Given the description of an element on the screen output the (x, y) to click on. 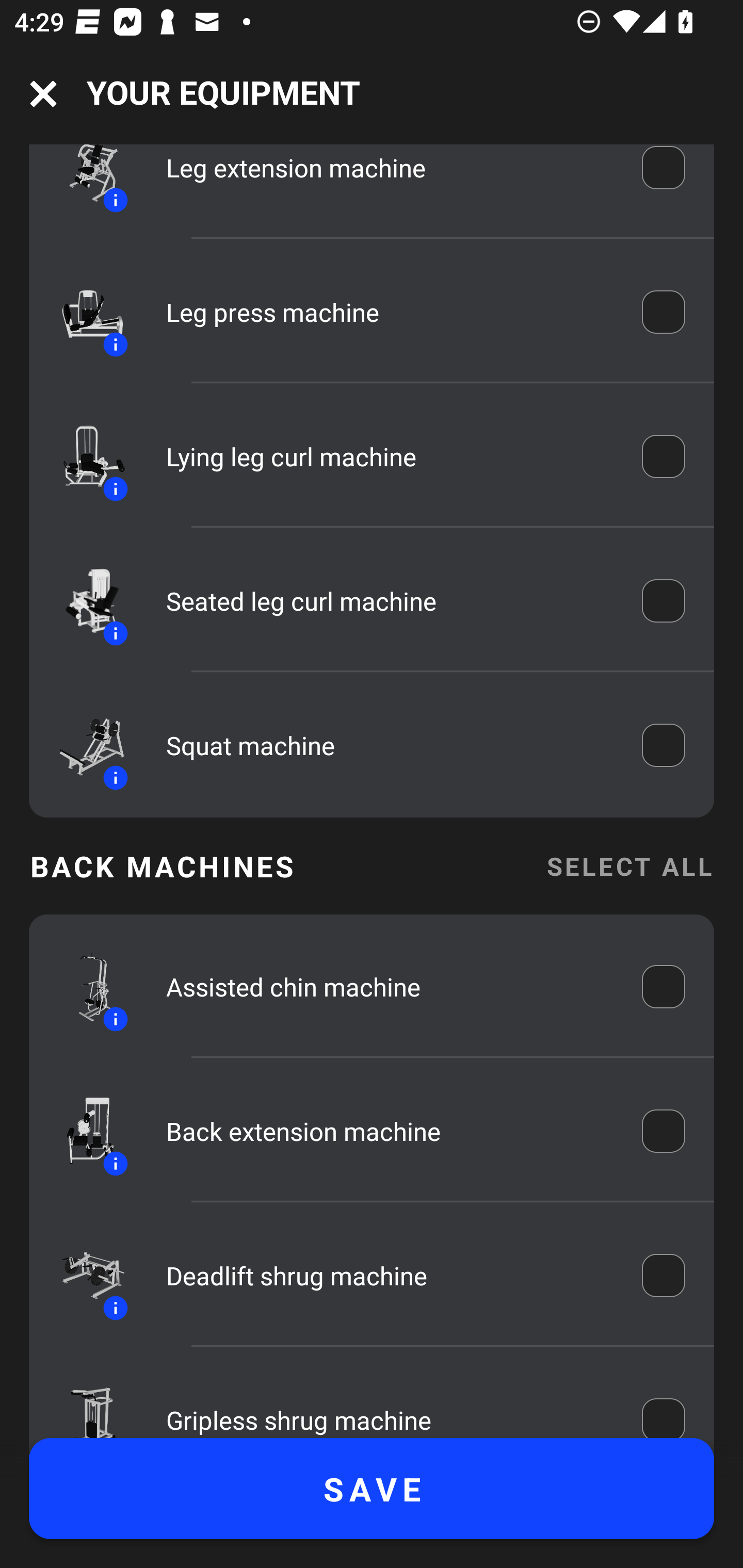
Navigation icon (43, 93)
Equipment icon Information icon (82, 182)
Leg extension machine (389, 177)
Equipment icon Information icon (82, 311)
Leg press machine (389, 311)
Equipment icon Information icon (82, 456)
Lying leg curl machine (389, 456)
Equipment icon Information icon (82, 601)
Seated leg curl machine (389, 601)
Equipment icon Information icon (82, 745)
Squat machine (389, 745)
SELECT ALL (629, 866)
Equipment icon Information icon (82, 986)
Assisted chin machine (389, 986)
Equipment icon Information icon (82, 1131)
Back extension machine (389, 1131)
Equipment icon Information icon (82, 1275)
Deadlift shrug machine (389, 1275)
Equipment icon (82, 1401)
Gripless shrug machine (389, 1406)
SAVE (371, 1488)
